Given the description of an element on the screen output the (x, y) to click on. 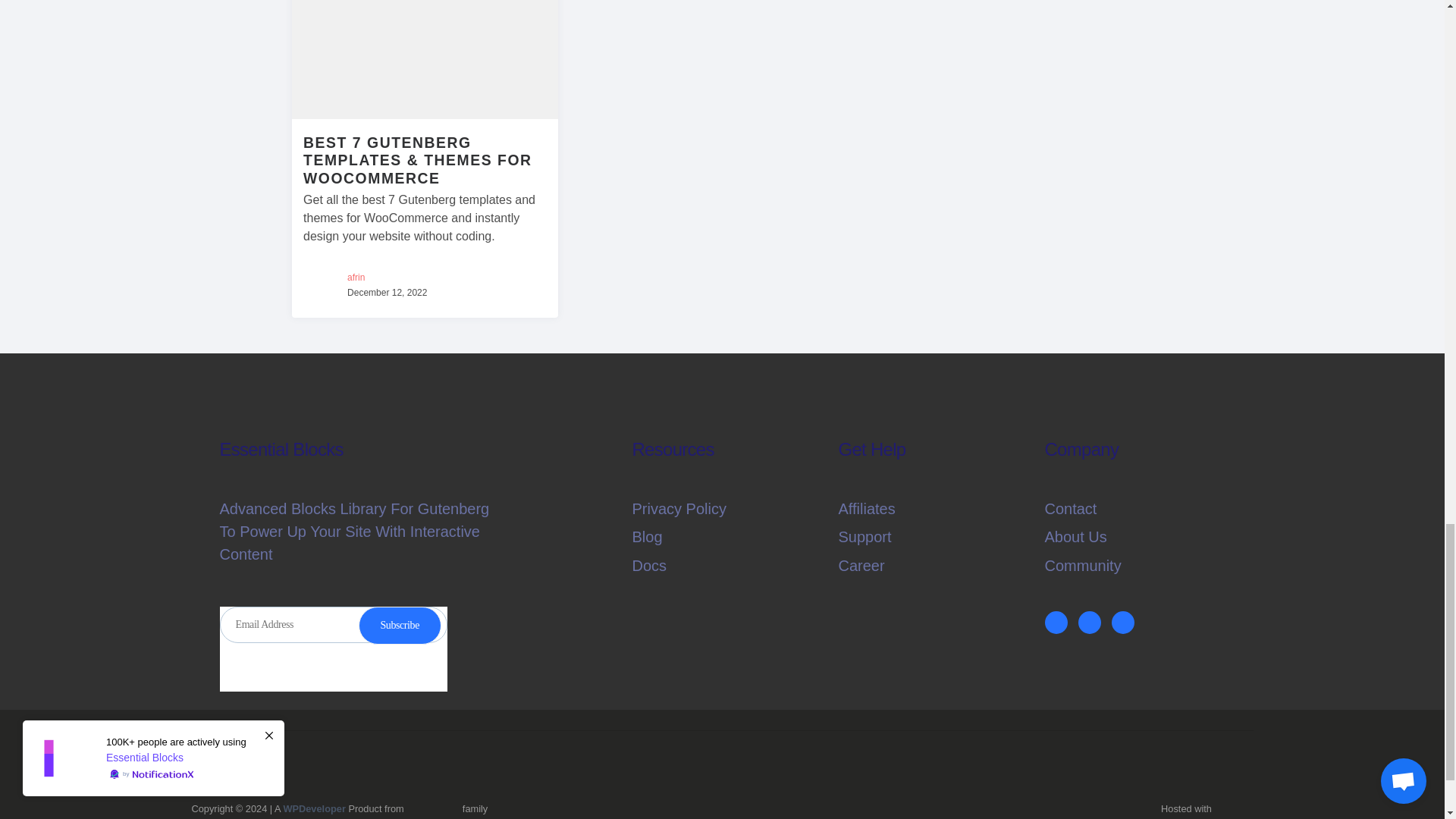
Subscribe (399, 625)
